Given the description of an element on the screen output the (x, y) to click on. 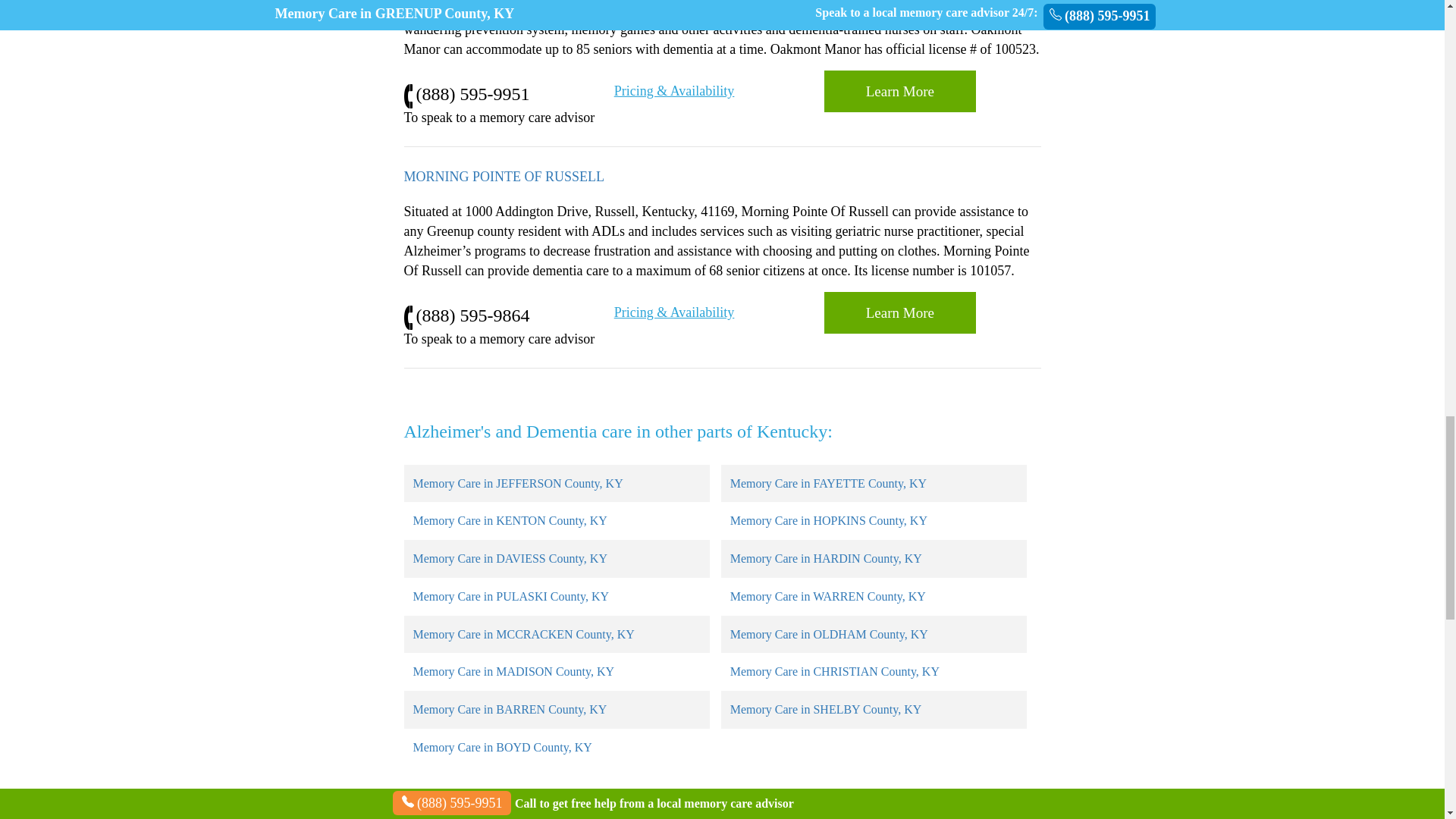
Memory Care in JEFFERSON County, KY (517, 482)
Memory Care in BARREN County, KY (509, 708)
Memory Care in OLDHAM County, KY (829, 634)
Memory Care in FAYETTE County, KY (828, 482)
Memory Care in KENTON County, KY (509, 520)
Memory Care in MCCRACKEN County, KY (522, 634)
Memory Care in FAYETTE County, KY (828, 482)
Memory Care in HOPKINS County, KY (828, 520)
Memory Care in BOYD County, KY (501, 747)
Learn More (899, 312)
Memory Care in WARREN County, KY (828, 595)
Memory Care in KENTON County, KY (509, 520)
Learn More (899, 312)
Memory Care in JEFFERSON County, KY (517, 482)
Memory Care in DAVIESS County, KY (509, 558)
